Given the description of an element on the screen output the (x, y) to click on. 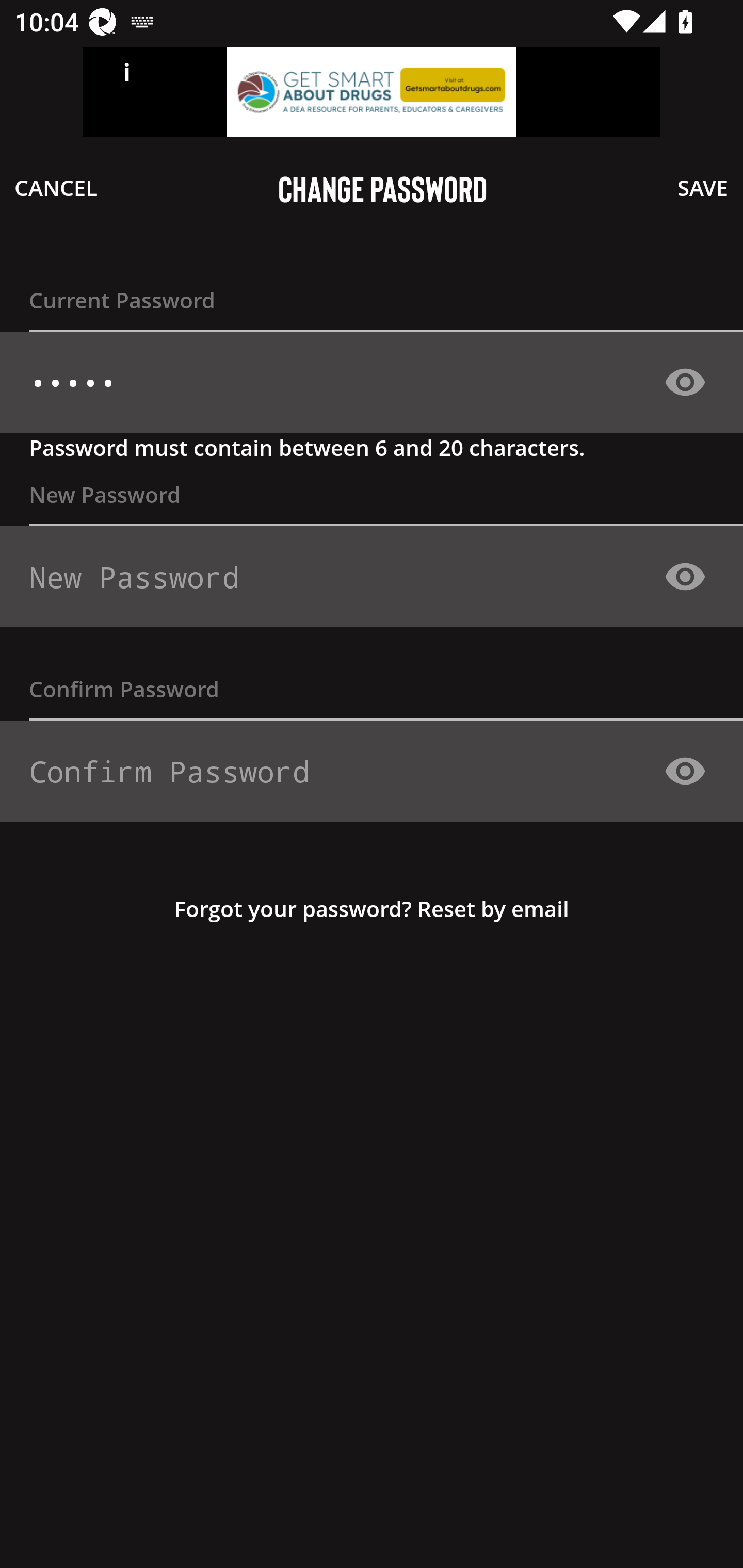
CANCEL (55, 186)
SAVE (702, 186)
Blues (364, 382)
Show password (684, 381)
New Password (364, 576)
Show password (684, 576)
Confirm Password (364, 771)
Show password (684, 770)
Forgot your password? Reset by email (371, 908)
